Given the description of an element on the screen output the (x, y) to click on. 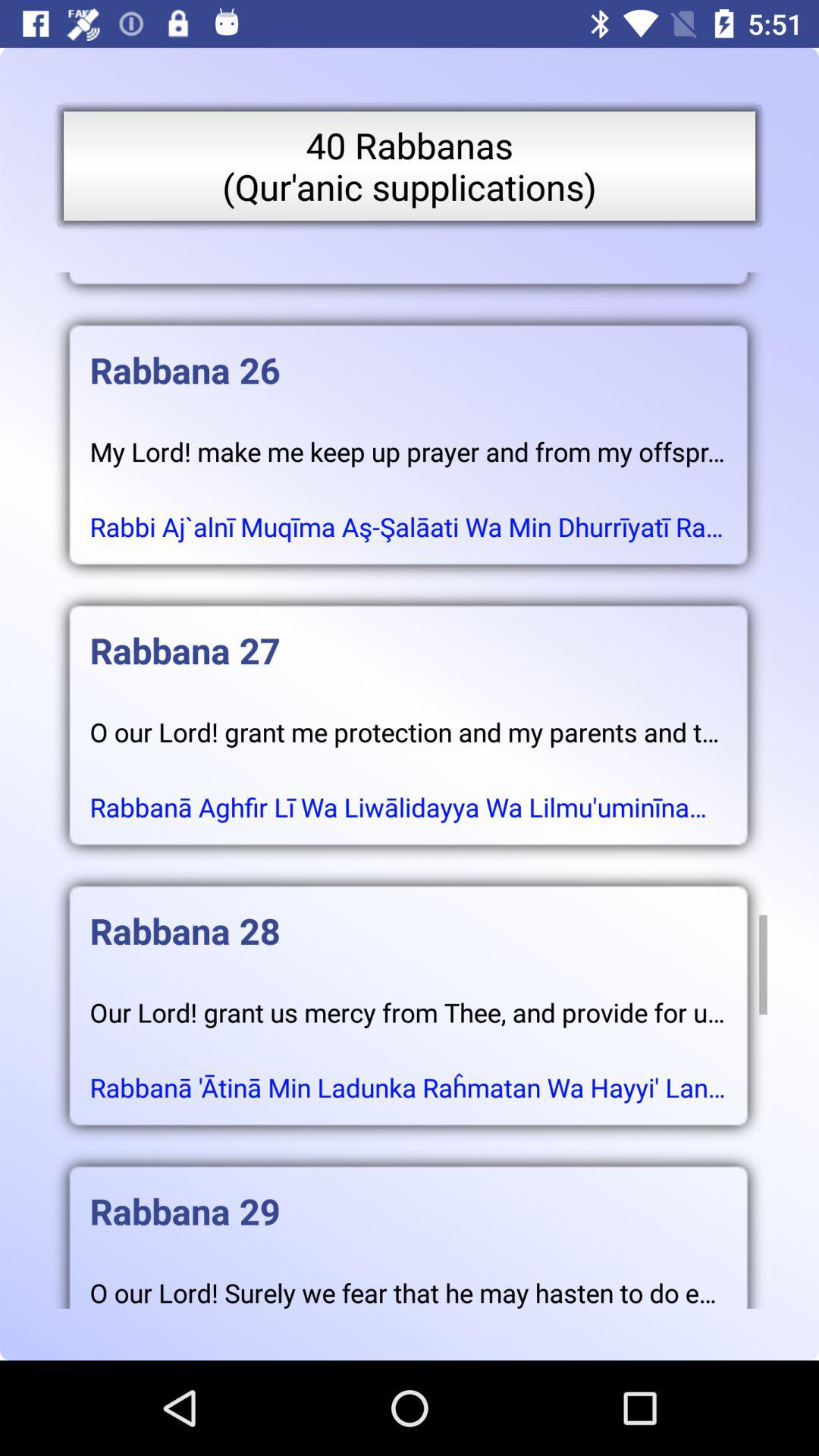
select the rabbana 29 item (408, 1196)
